Given the description of an element on the screen output the (x, y) to click on. 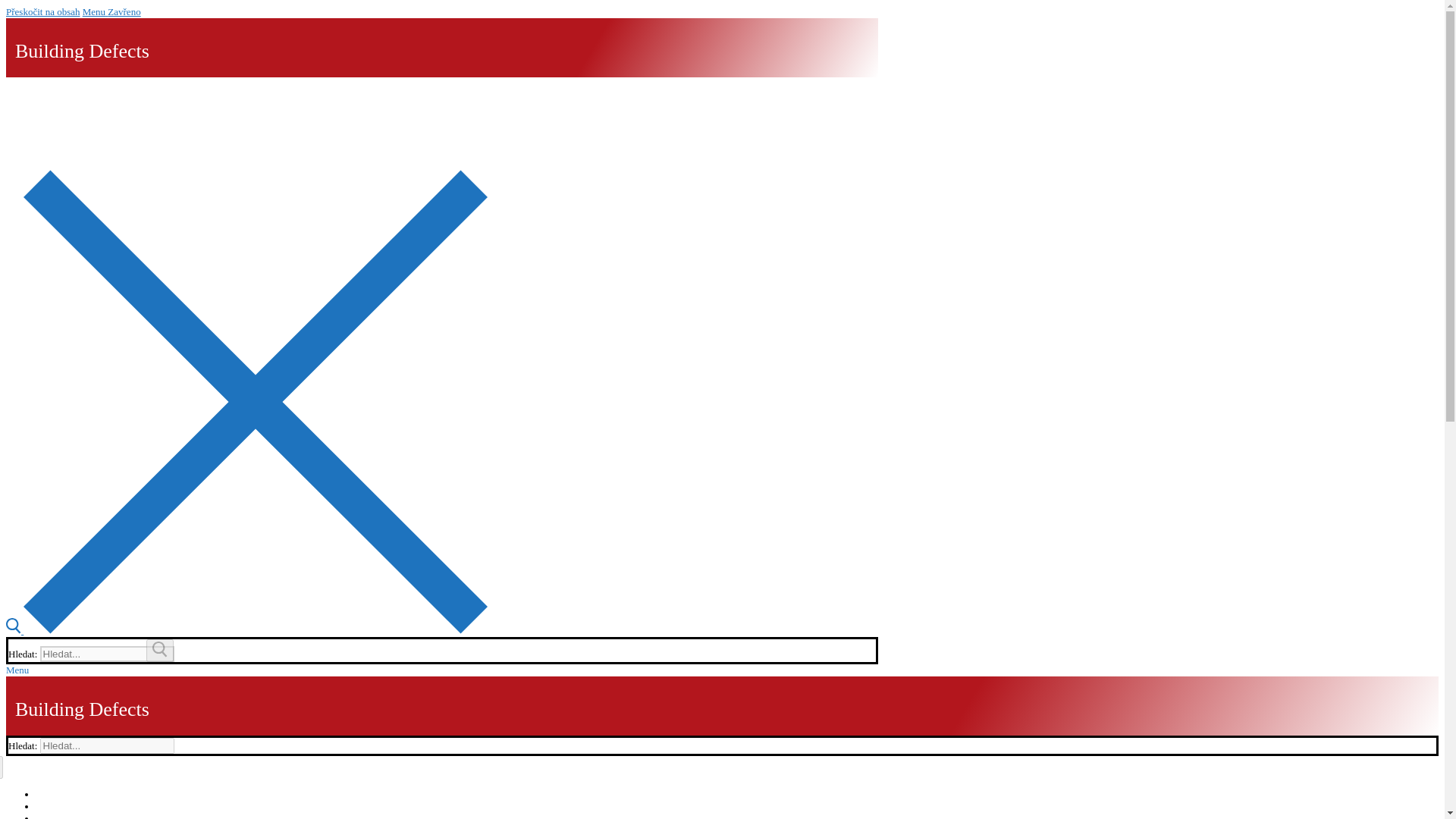
Hledat: (107, 653)
Menu (17, 669)
Hledat: (107, 745)
